Given the description of an element on the screen output the (x, y) to click on. 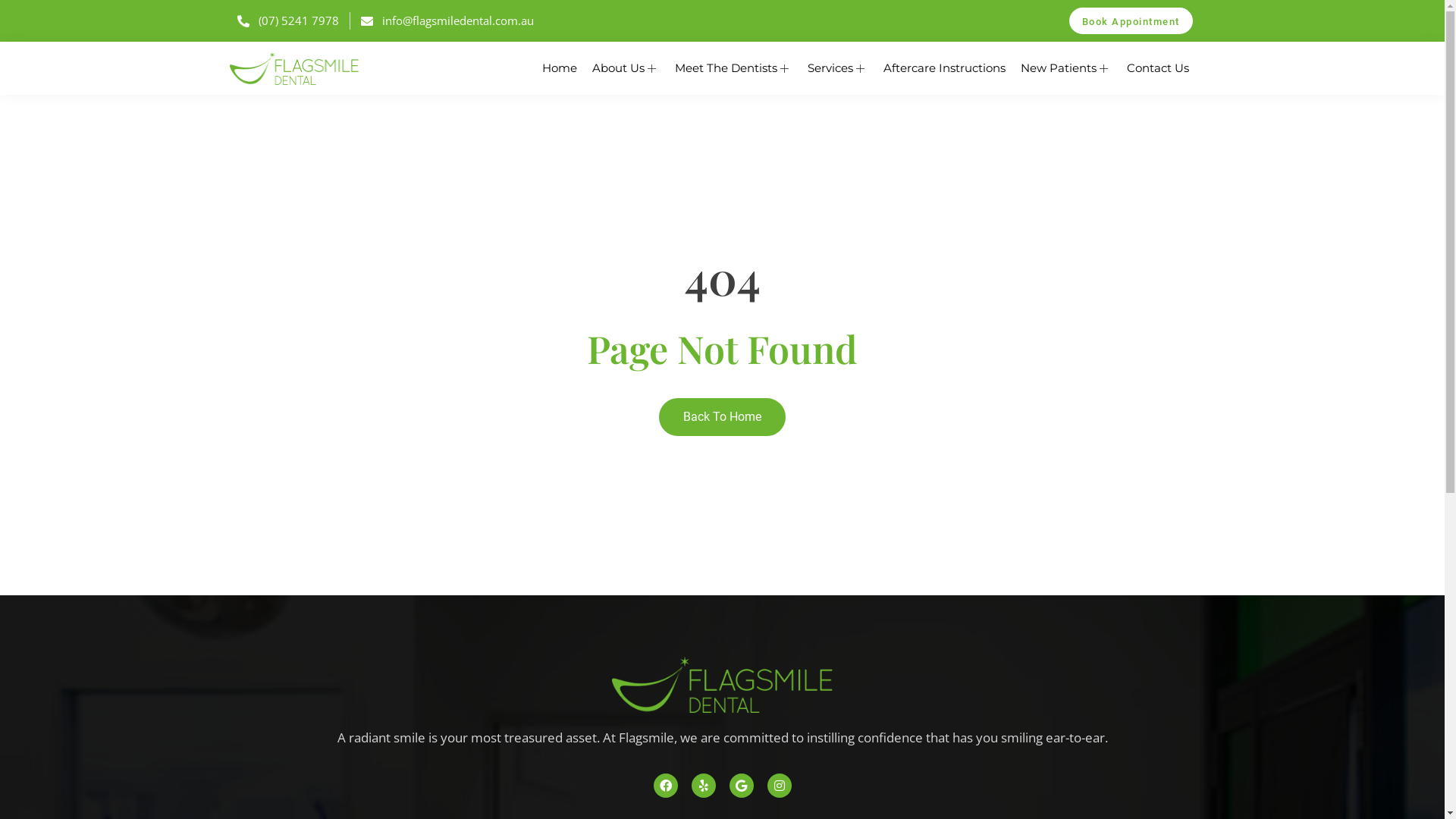
(07) 5241 7978 Element type: text (287, 20)
New Patients Element type: text (1066, 67)
Back To Home Element type: text (721, 417)
Aftercare Instructions Element type: text (943, 67)
Services Element type: text (837, 67)
Home Element type: text (558, 67)
Contact Us Element type: text (1157, 67)
About Us Element type: text (624, 67)
Book Appointment Element type: text (1130, 20)
Meet The Dentists Element type: text (733, 67)
info@flagsmiledental.com.au Element type: text (446, 20)
